Given the description of an element on the screen output the (x, y) to click on. 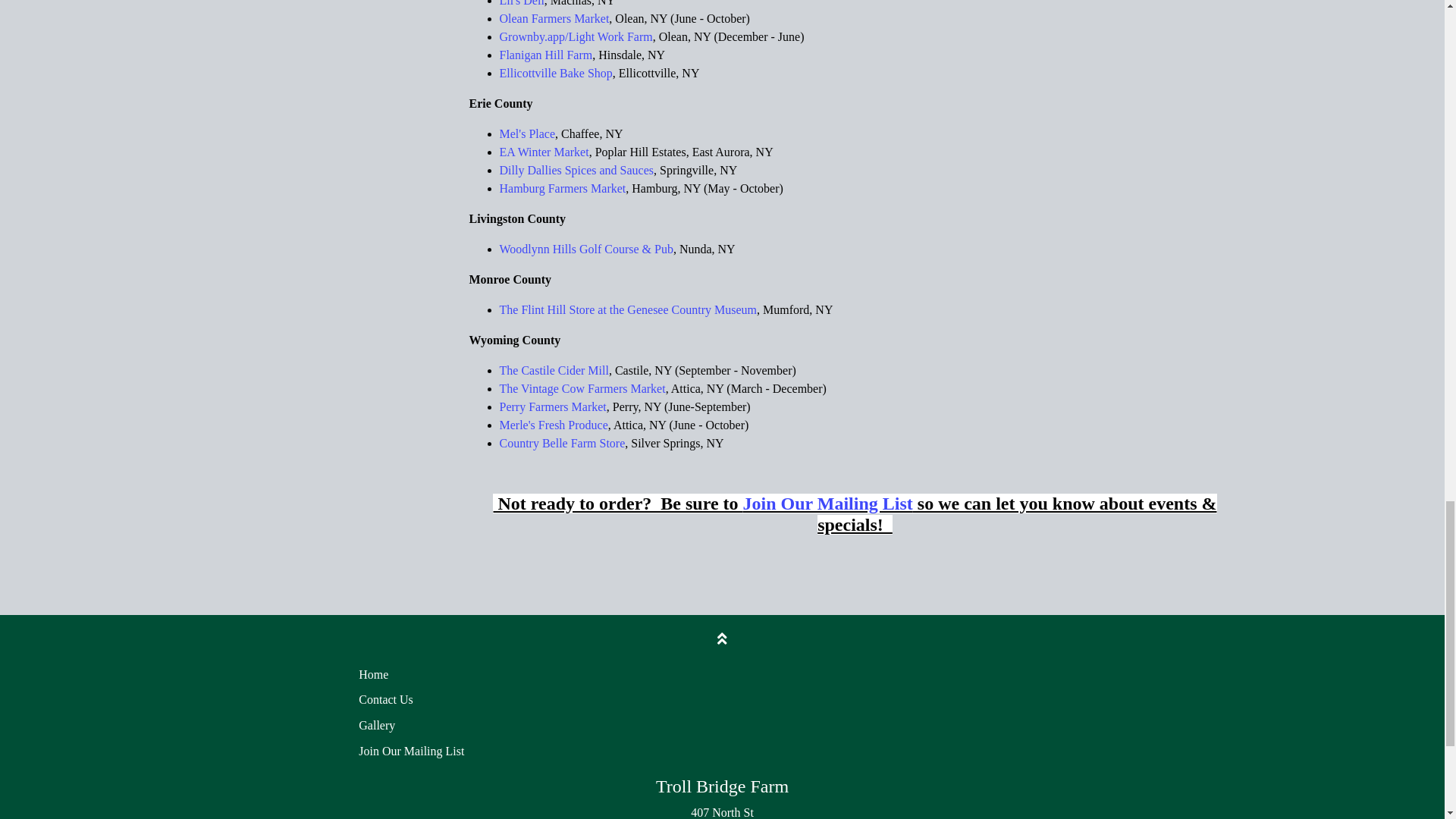
Join Our Mailing List (827, 502)
